Given the description of an element on the screen output the (x, y) to click on. 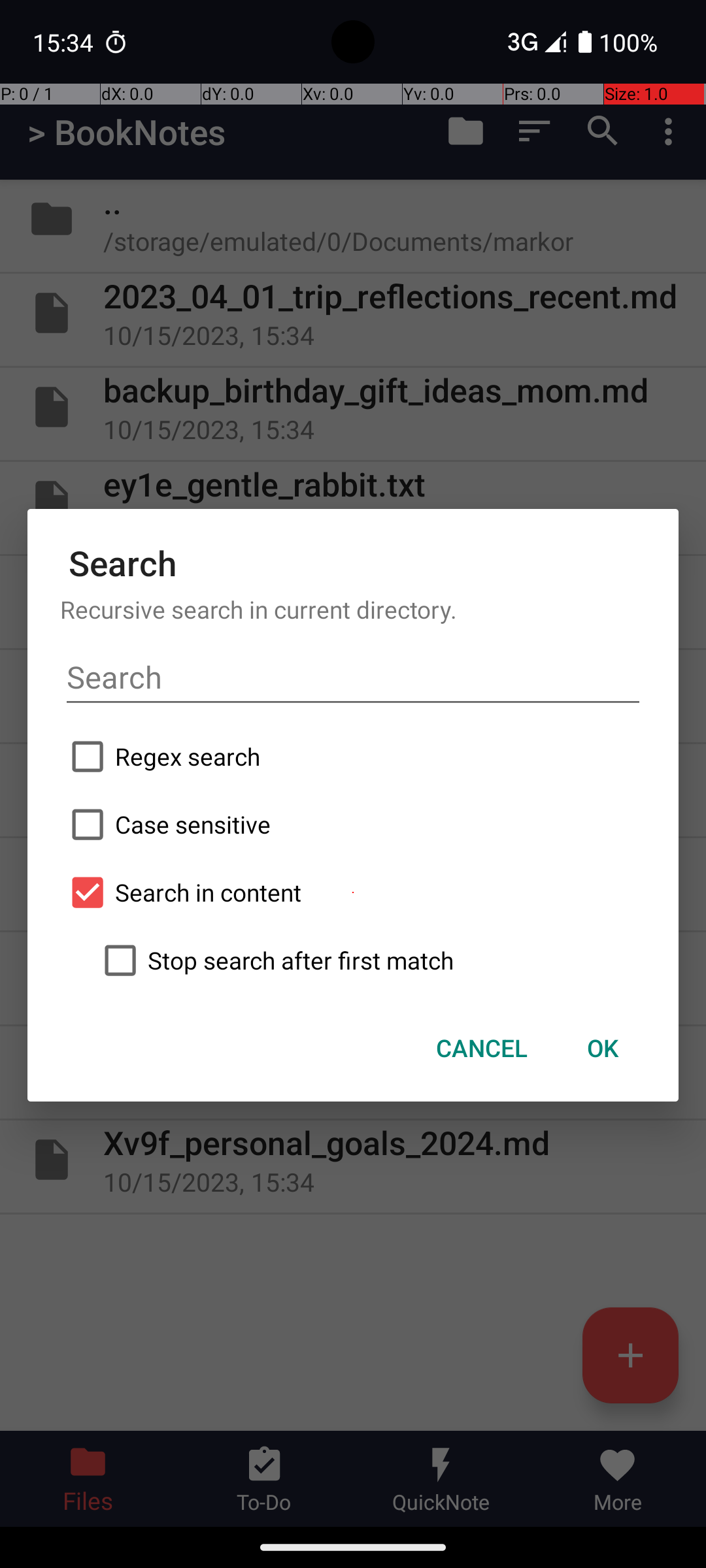
Recursive search in current directory. Element type: android.widget.TextView (352, 608)
Regex search Element type: android.widget.CheckBox (352, 756)
Case sensitive Element type: android.widget.CheckBox (352, 824)
Search in content Element type: android.widget.CheckBox (352, 892)
Stop search after first match Element type: android.widget.CheckBox (368, 959)
